Given the description of an element on the screen output the (x, y) to click on. 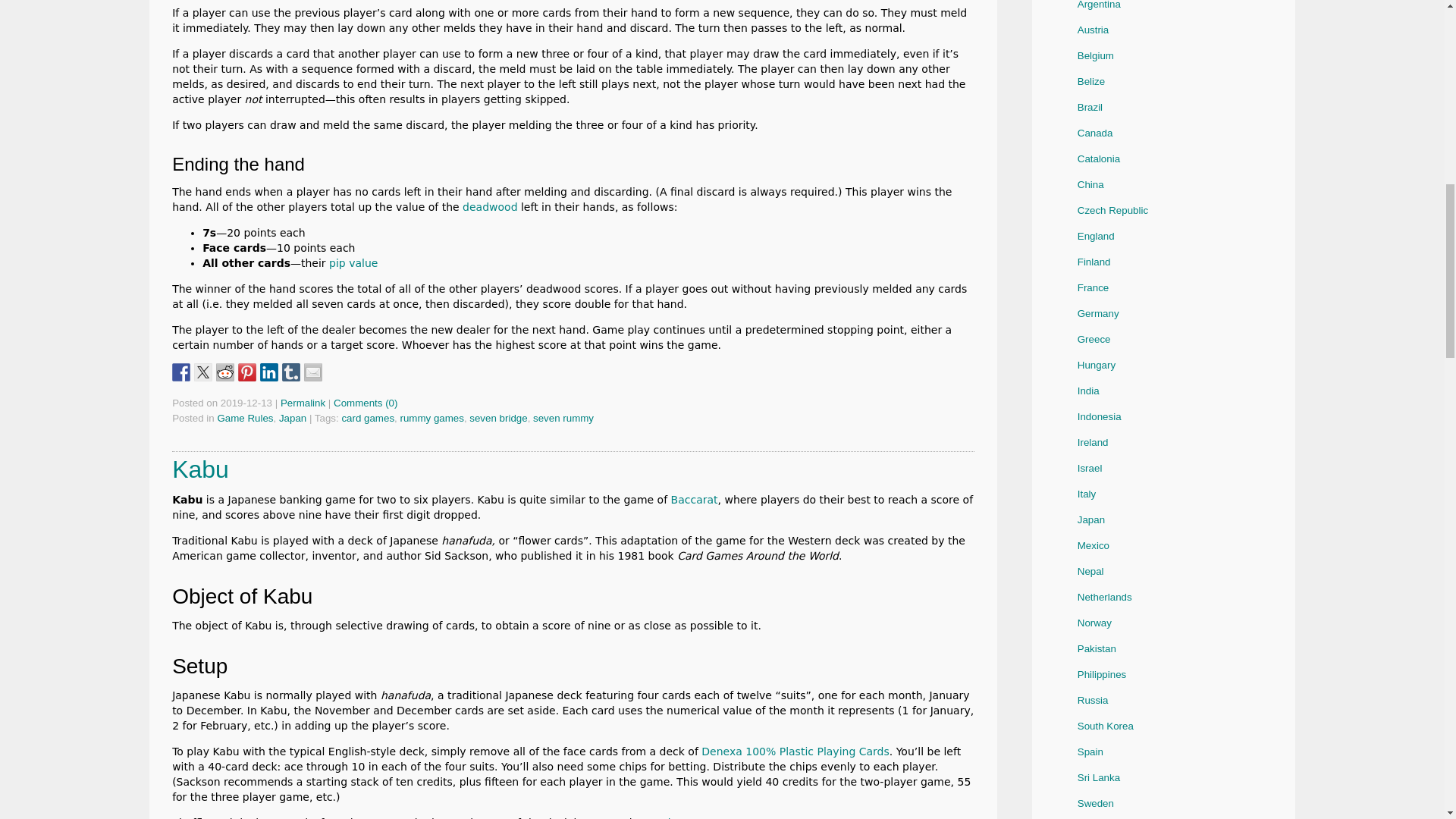
Share on Twitter (202, 372)
stock (660, 817)
pip value (353, 263)
Permalink (302, 402)
Share on Linkedin (269, 372)
Japan (292, 418)
Game Rules (244, 418)
rummy games (430, 418)
Share on Facebook (180, 372)
Pin it with Pinterest (247, 372)
card games (367, 418)
seven rummy (563, 418)
Baccarat (694, 499)
Kabu (199, 469)
seven bridge (497, 418)
